Given the description of an element on the screen output the (x, y) to click on. 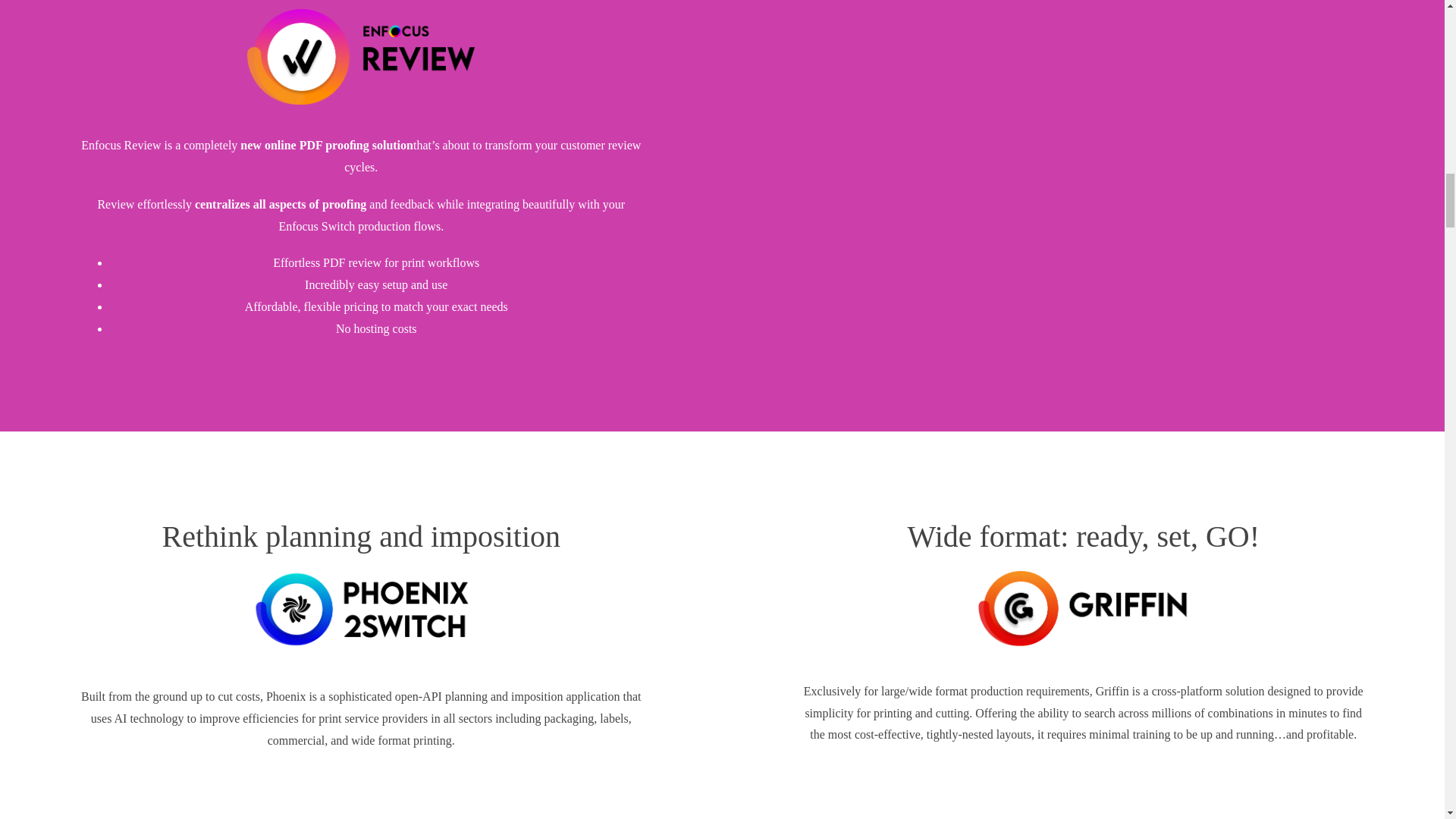
Griffin-horizontal-black (1082, 608)
Enfocus Review logo black (360, 56)
YouTube video player 1 (1029, 81)
